Given the description of an element on the screen output the (x, y) to click on. 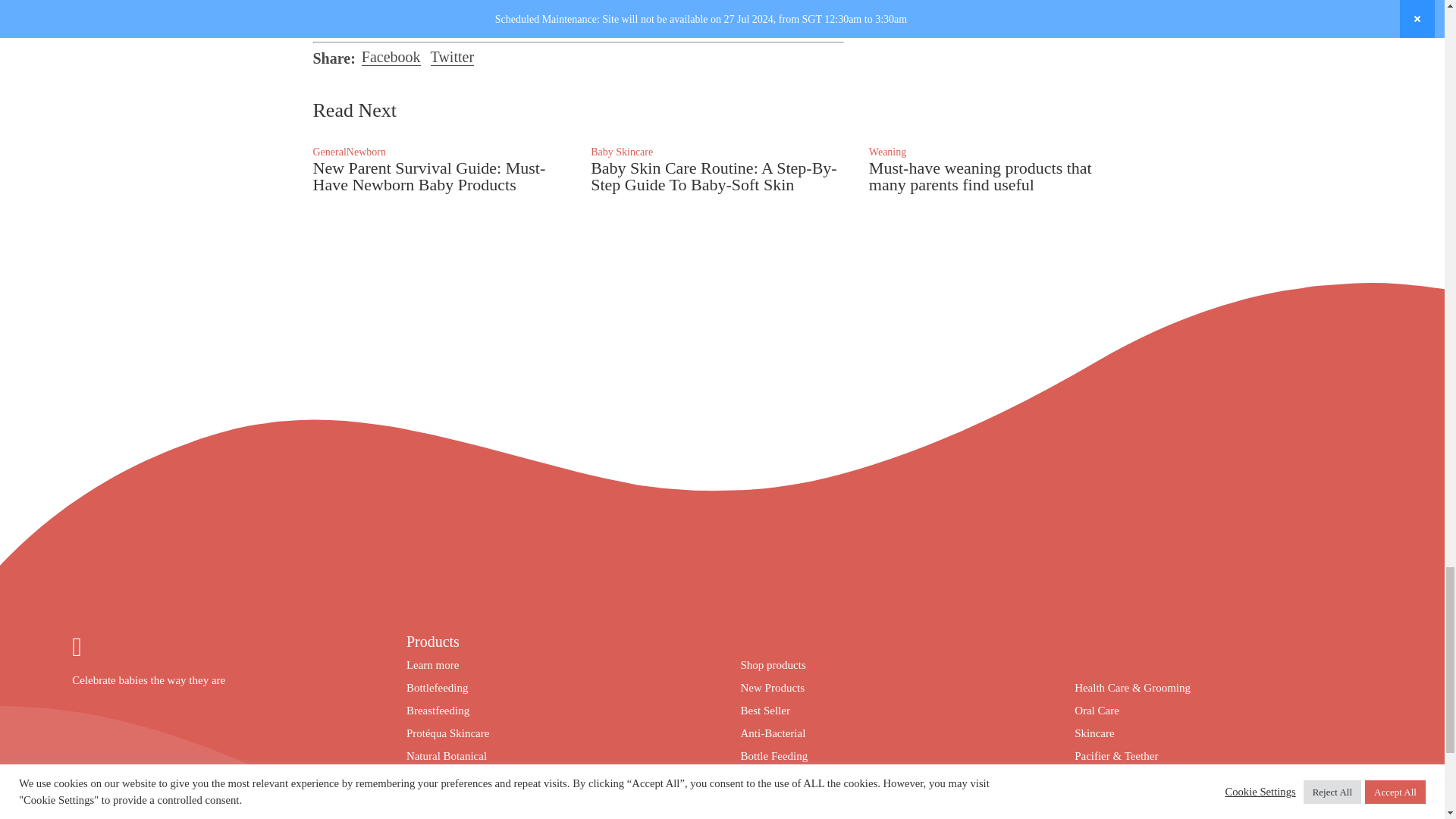
Click to share on Facebook (389, 57)
Click to share on Twitter (451, 57)
